Given the description of an element on the screen output the (x, y) to click on. 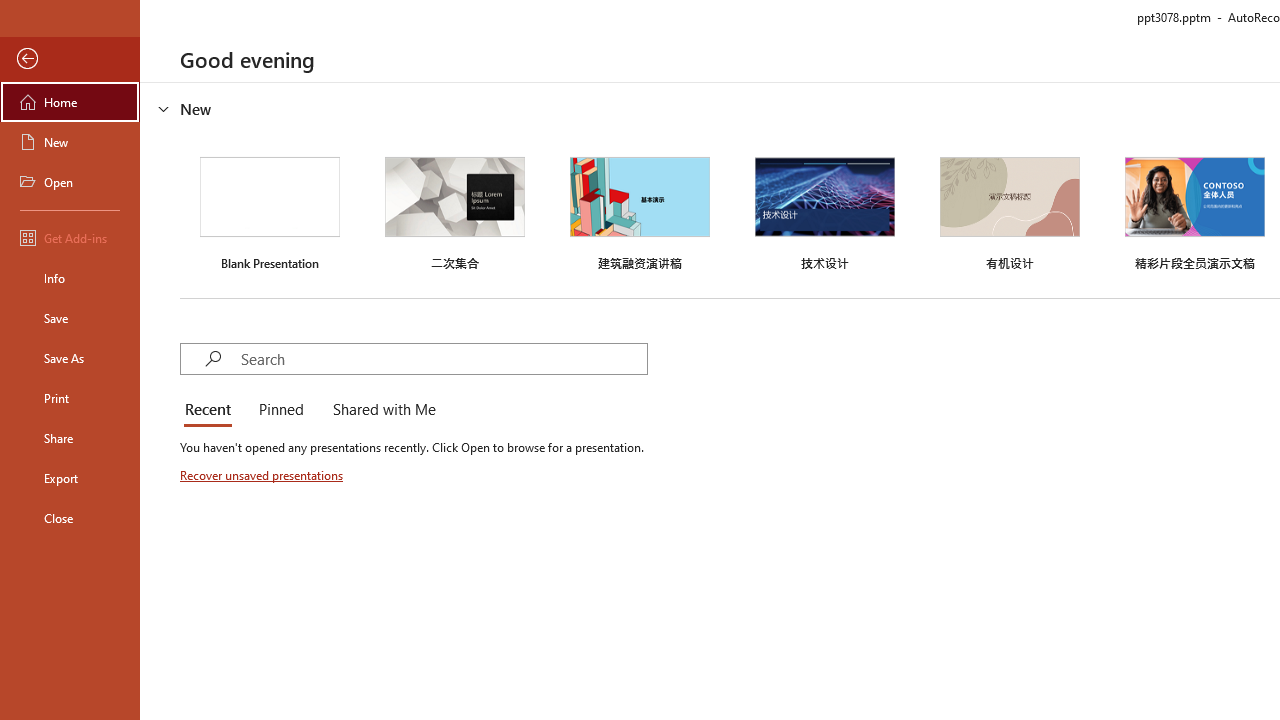
Print (69, 398)
Blank Presentation (269, 211)
Get Add-ins (69, 237)
Shared with Me (379, 410)
Info (69, 277)
Recover unsaved presentations (263, 475)
Pinned (280, 410)
